Given the description of an element on the screen output the (x, y) to click on. 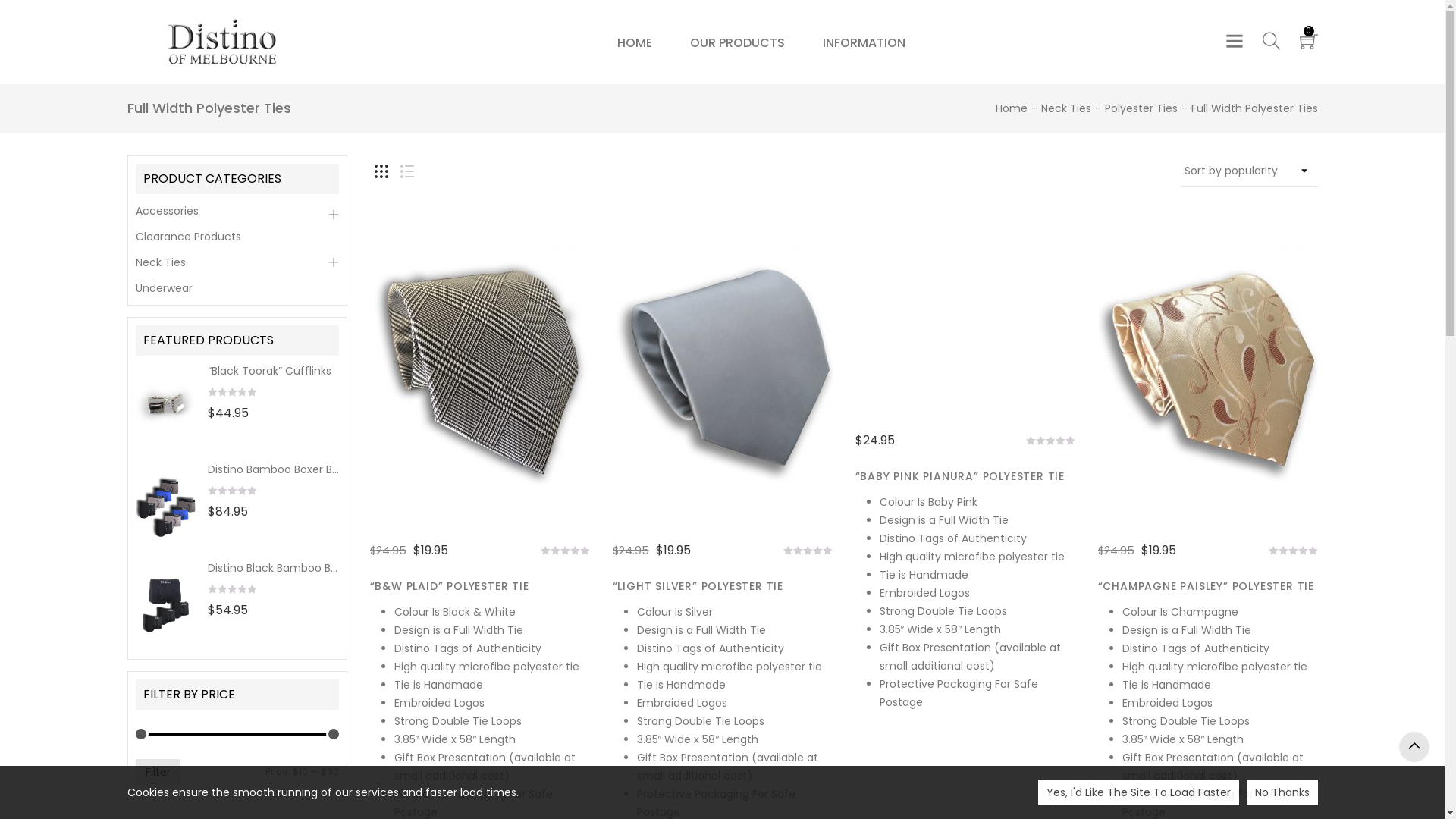
0 Element type: hover (232, 392)
Distino Black Bamboo Boxer Briefs (Four Pack Deal) Element type: hover (164, 605)
Polyester Ties Element type: text (1140, 108)
Distino Bamboo Boxer Briefs - 3 x Colours (Eight Pack Deal) Element type: hover (164, 506)
Neck Ties Element type: text (236, 262)
INFORMATION Element type: text (863, 41)
Accessories Element type: text (236, 212)
0 Element type: hover (807, 550)
Neck Ties Element type: text (1065, 108)
Underwear Element type: text (236, 286)
Yes, I'D Like The Site To Load Faster Element type: text (1137, 792)
Clearance Products Element type: text (236, 236)
Home Element type: text (1010, 108)
No Thanks Element type: text (1281, 792)
0 Element type: hover (1292, 550)
0 Element type: hover (1050, 440)
0 Element type: hover (232, 490)
Grid Element type: hover (381, 171)
0 Element type: hover (232, 589)
OUR PRODUCTS Element type: text (737, 41)
HOME Element type: text (634, 41)
Filter Element type: text (156, 771)
List Element type: hover (406, 171)
0 Element type: hover (564, 550)
Distino Black Bamboo Boxer Briefs (Four Pack Deal) Element type: text (272, 568)
Distino Bamboo Boxer Briefs - 3 x Colours (Eight Pack Deal) Element type: text (272, 469)
